Given the description of an element on the screen output the (x, y) to click on. 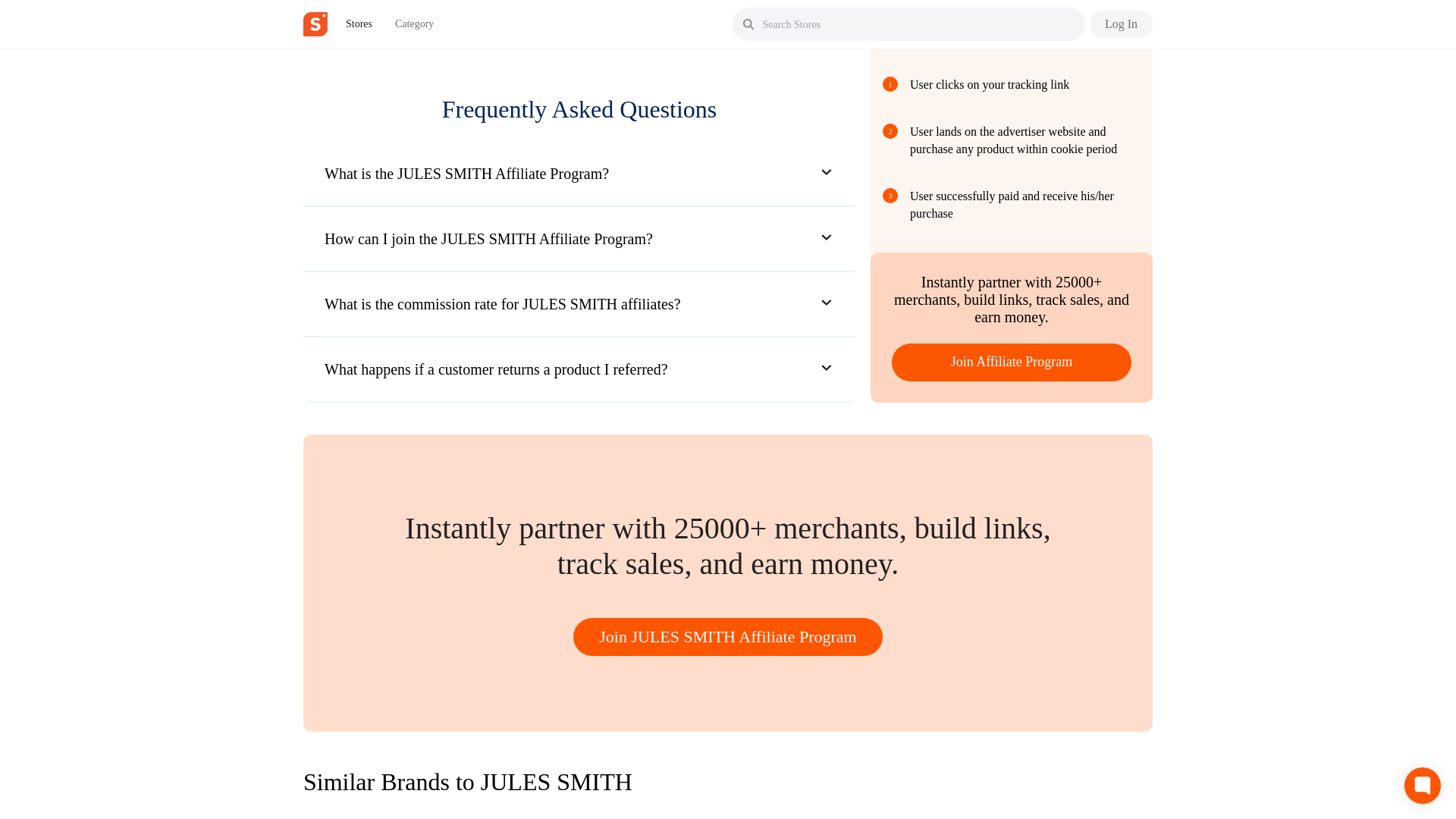
Join JULES SMITH Affiliate Program (727, 637)
Join JULES SMITH Affiliate Program (727, 636)
